Given the description of an element on the screen output the (x, y) to click on. 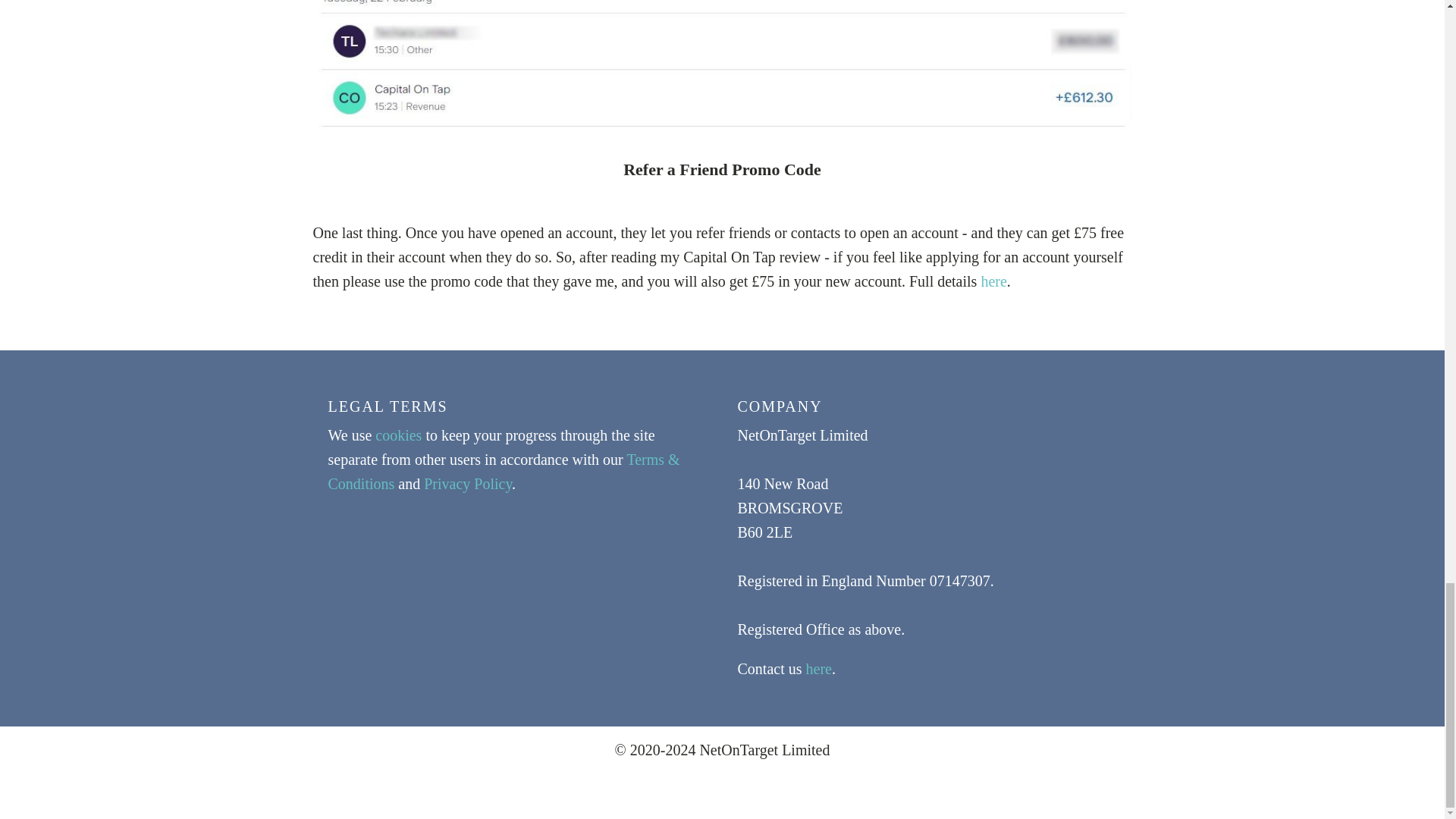
here (818, 668)
Privacy Policy (467, 483)
cookies (398, 434)
here (992, 280)
